Given the description of an element on the screen output the (x, y) to click on. 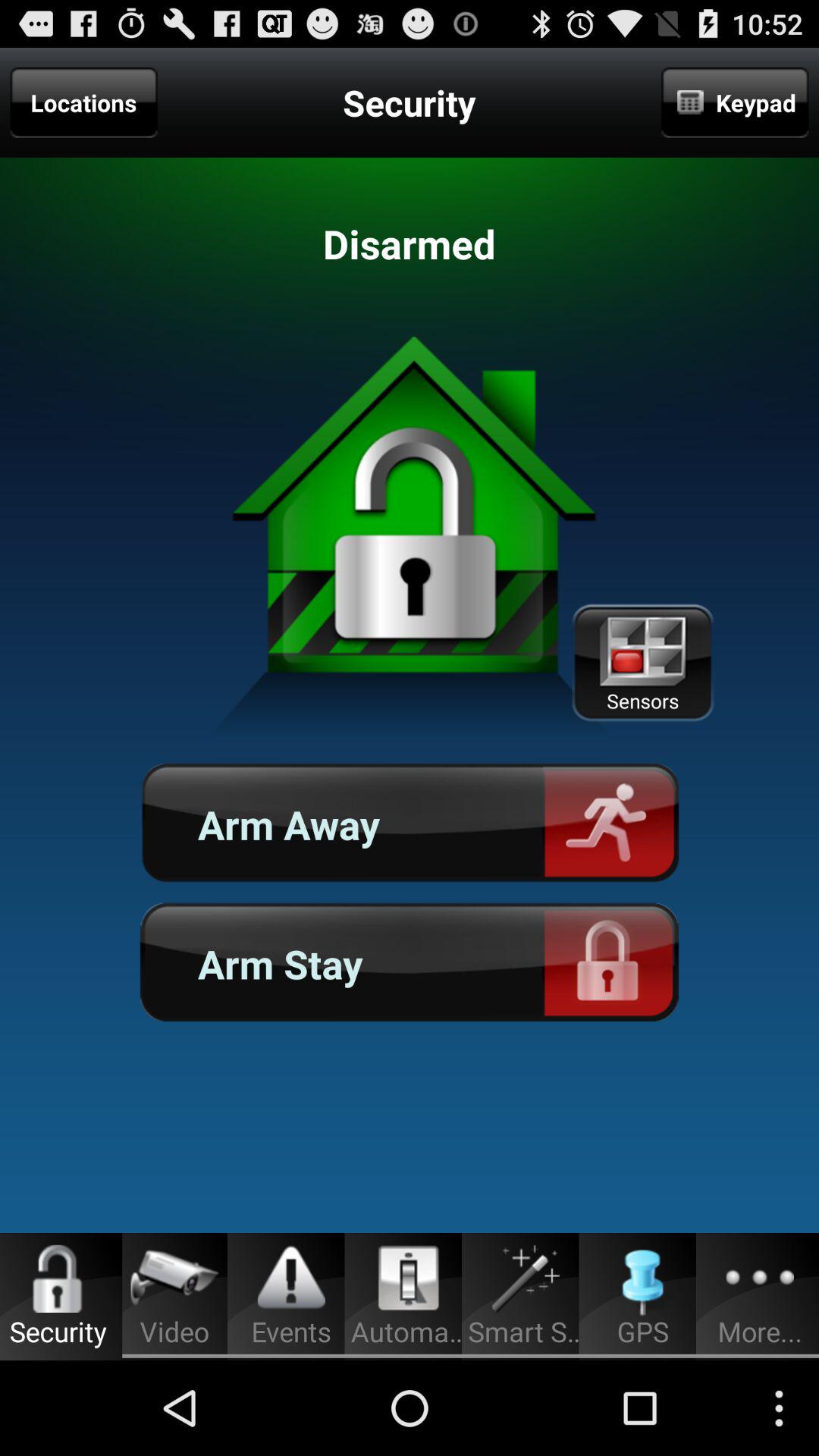
swipe to keypad (734, 102)
